Given the description of an element on the screen output the (x, y) to click on. 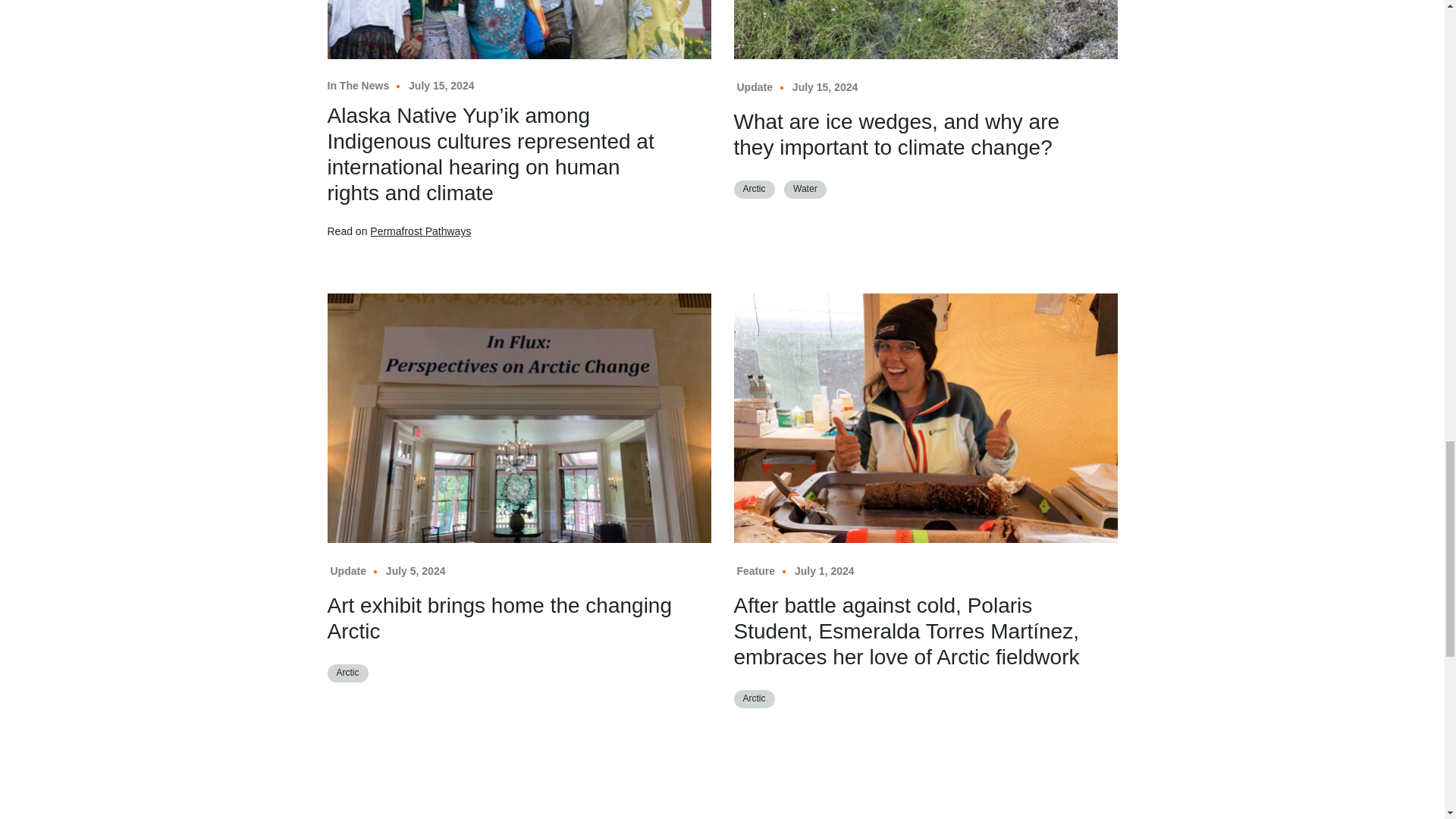
Water (805, 189)
Permafrost Pathways (419, 231)
Arctic (347, 673)
Arctic (753, 189)
